Given the description of an element on the screen output the (x, y) to click on. 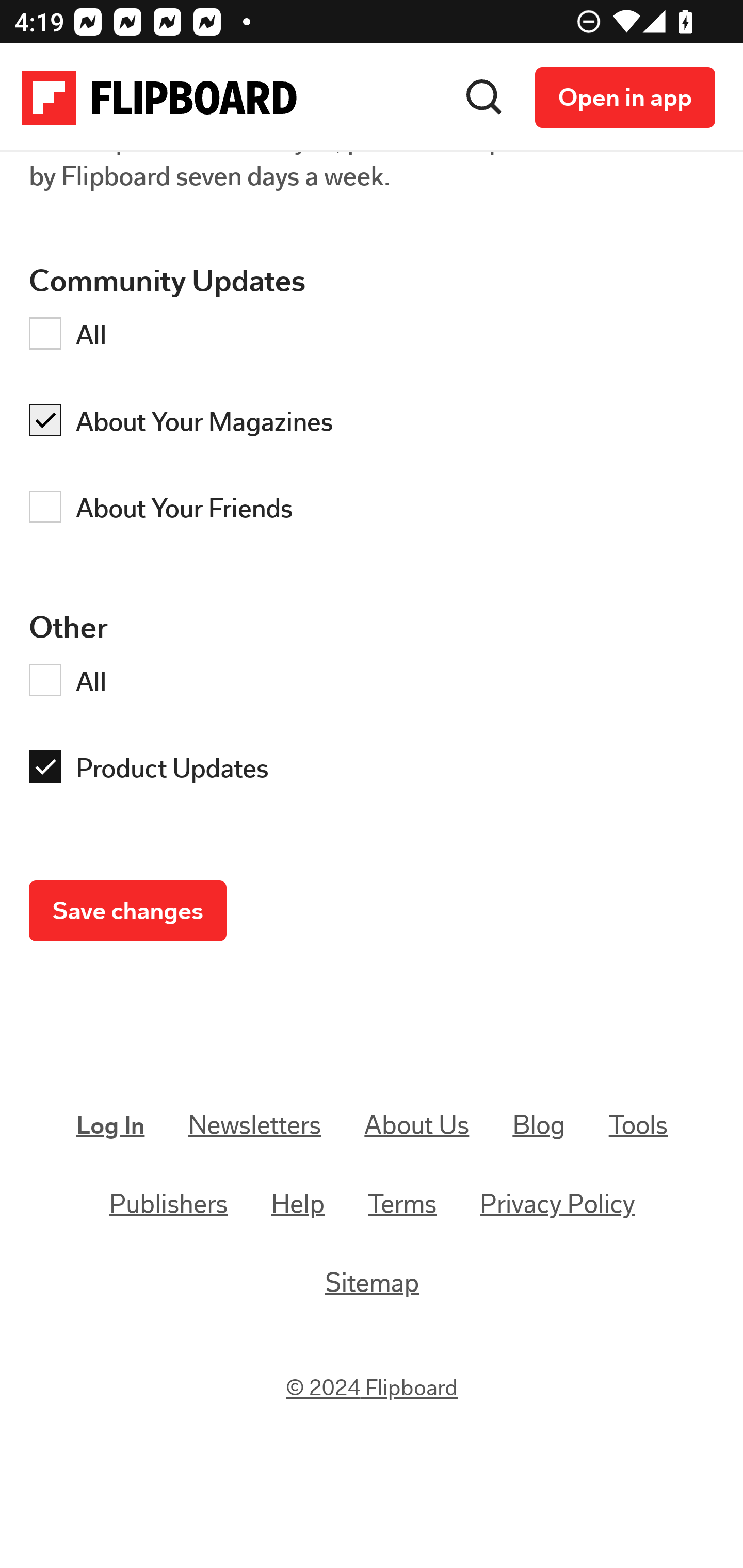
Open in app (625, 97)
Search (484, 97)
All (376, 338)
checkmark About Your Magazines (376, 424)
About Your Friends (376, 510)
All (376, 684)
checkmark Product Updates (376, 771)
Save changes (127, 912)
Newsletters (255, 1125)
About Us (416, 1125)
Blog (538, 1125)
Tools (638, 1125)
Log In (110, 1125)
Publishers (168, 1203)
Help (298, 1203)
Terms (401, 1203)
Privacy Policy (556, 1203)
Sitemap (371, 1282)
© 2024Flipboard ©  2024 Flipboard (372, 1388)
